Given the description of an element on the screen output the (x, y) to click on. 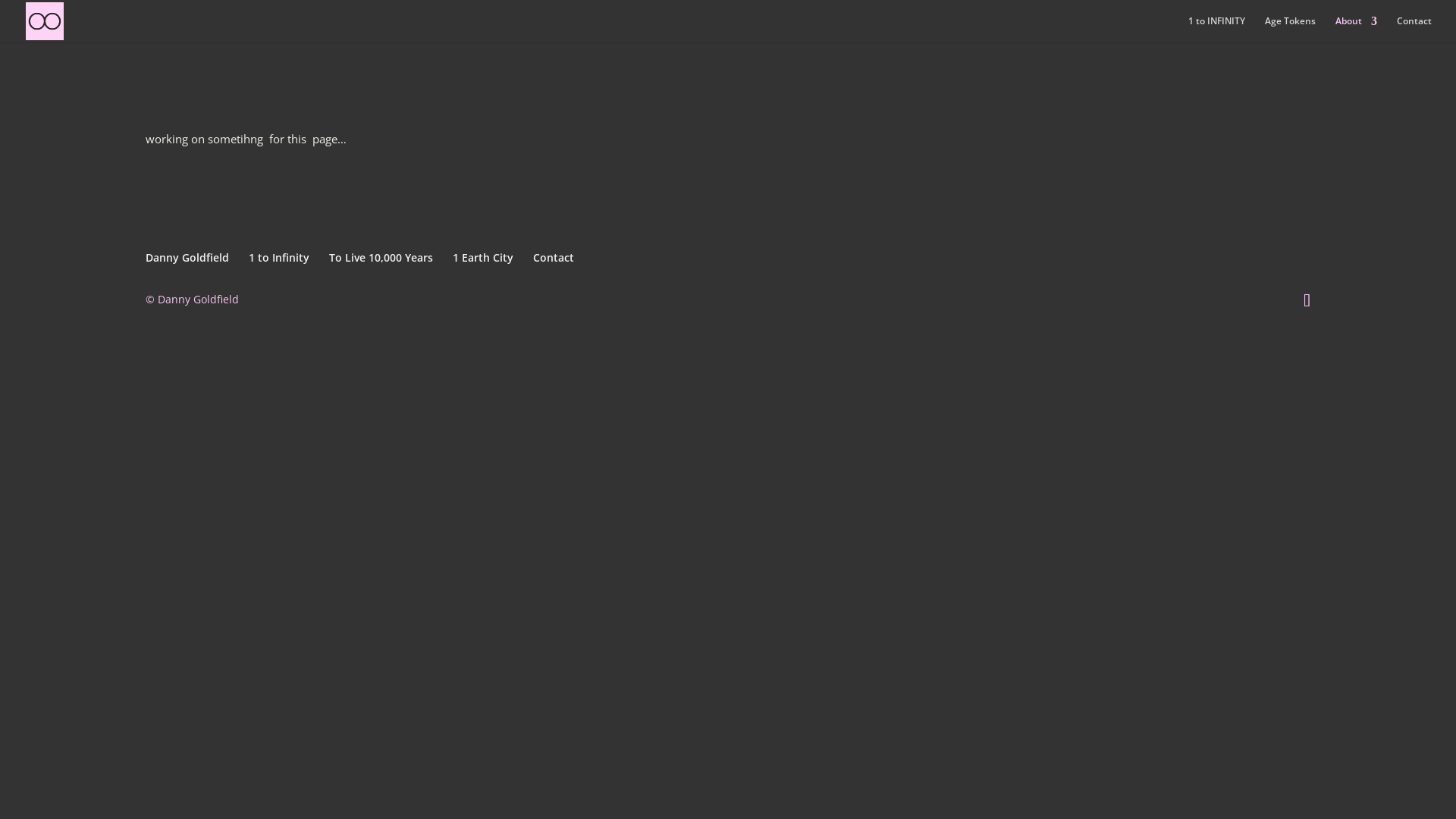
To Live 10,000 Years Element type: text (381, 257)
Contact Element type: text (553, 257)
Contact Element type: text (1413, 28)
Danny Goldfield Element type: text (187, 257)
1 to Infinity Element type: text (278, 257)
About Element type: text (1356, 28)
1 to INFINITY Element type: text (1216, 28)
Age Tokens Element type: text (1289, 28)
1 Earth City Element type: text (482, 257)
